Given the description of an element on the screen output the (x, y) to click on. 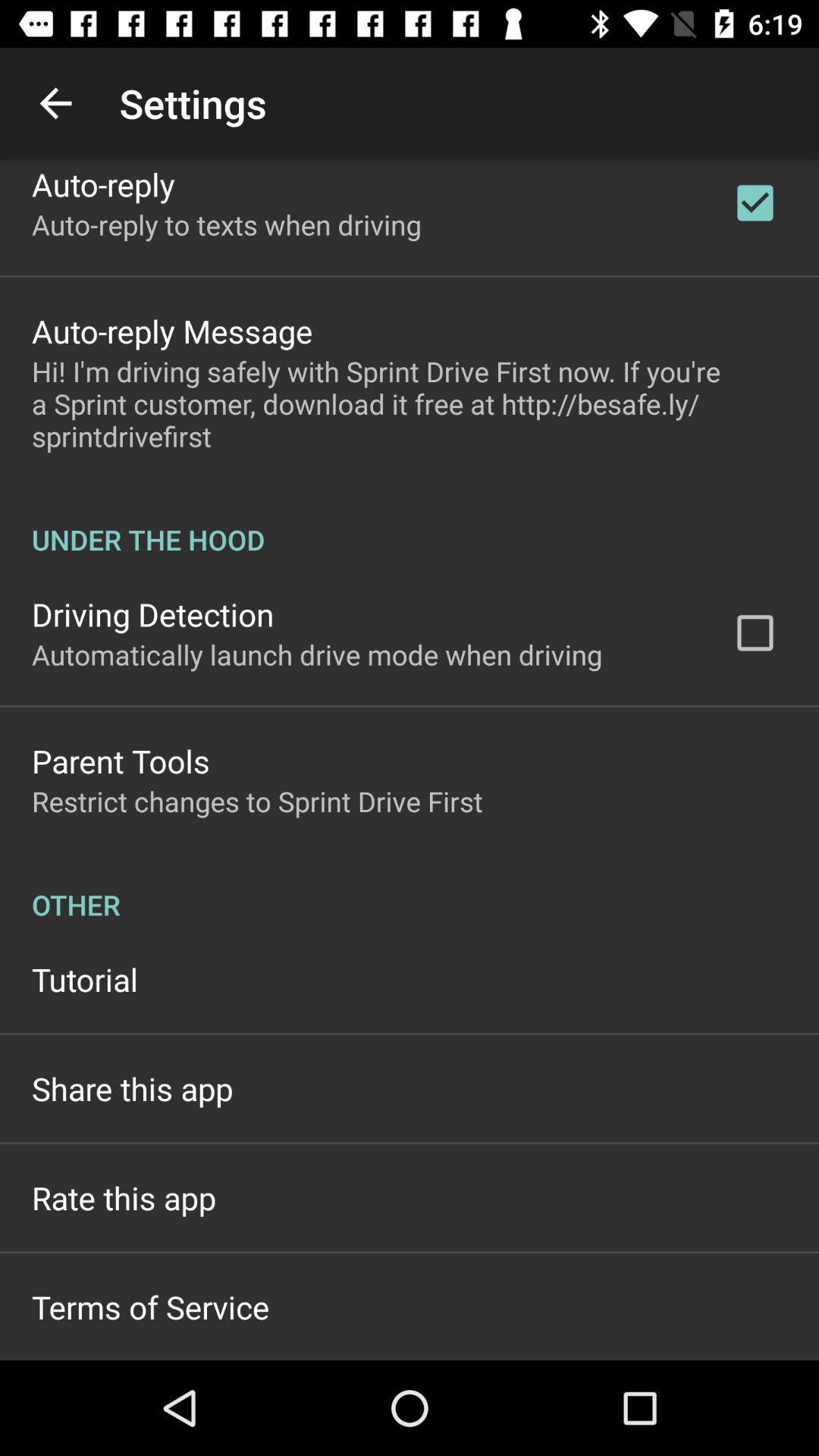
choose under the hood (409, 523)
